Given the description of an element on the screen output the (x, y) to click on. 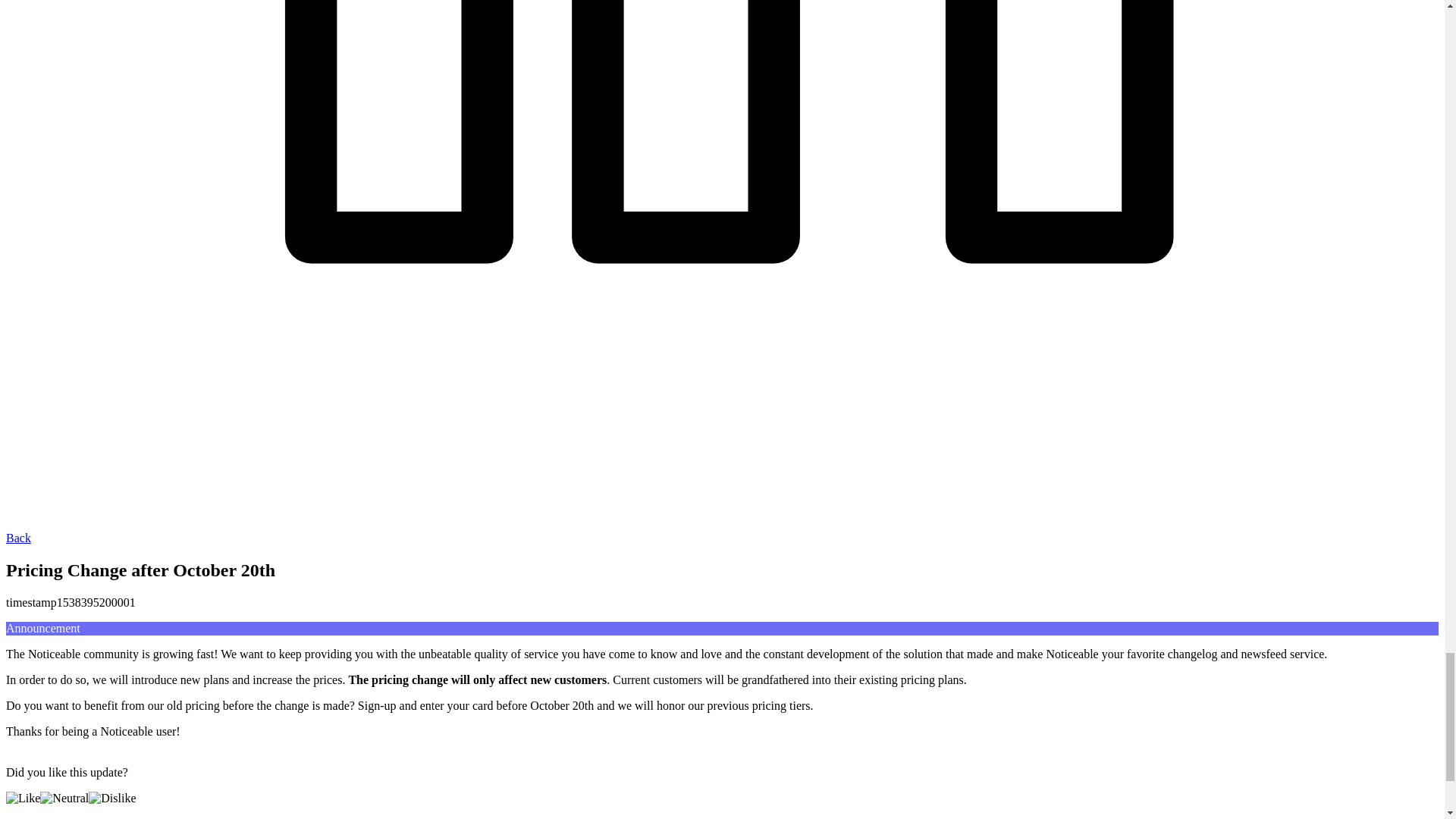
Like (22, 798)
Back (17, 537)
Back (17, 537)
Dislike (111, 798)
Neutral (64, 798)
